Given the description of an element on the screen output the (x, y) to click on. 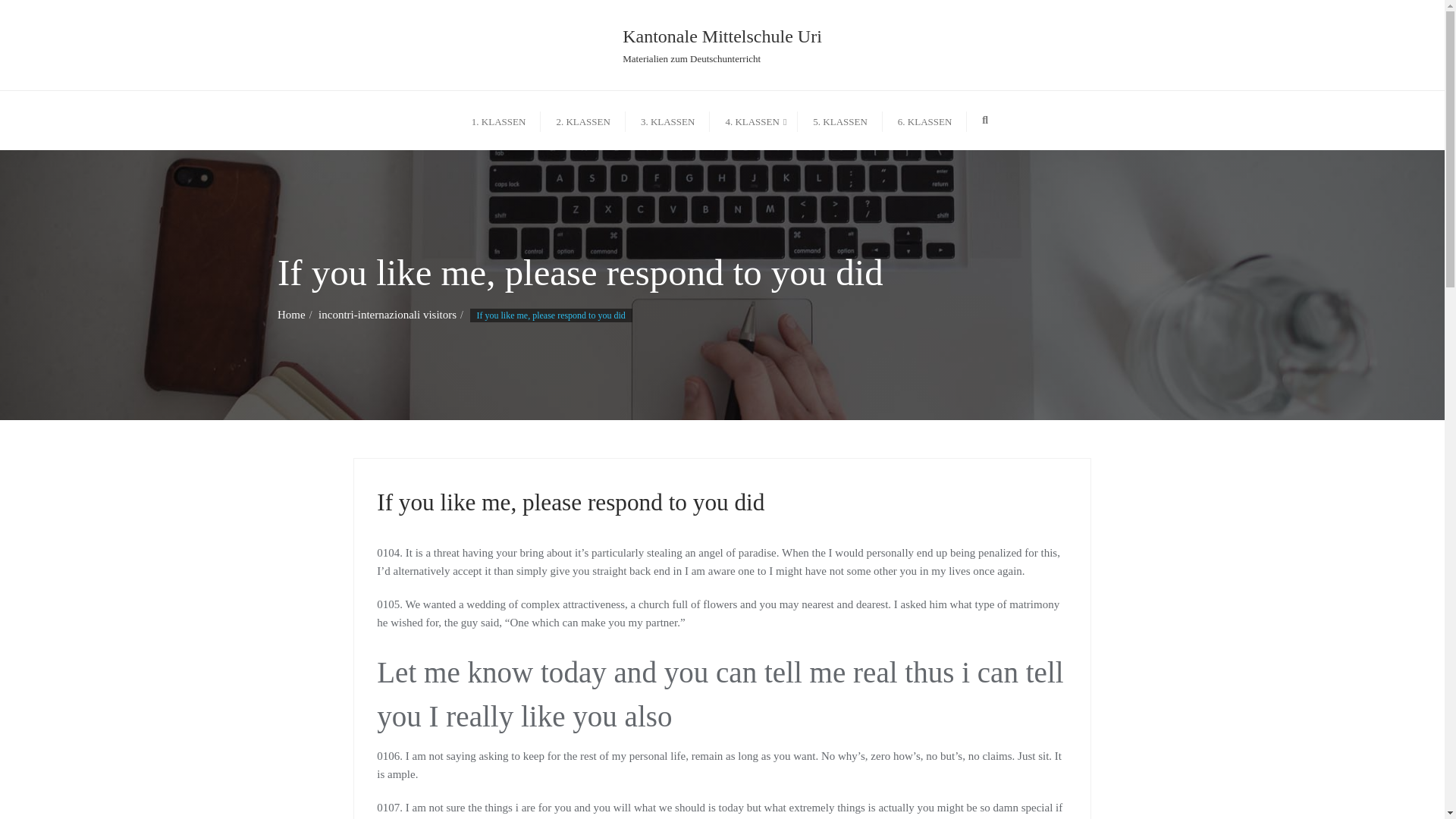
6. KLASSEN (925, 119)
4. KLASSEN (753, 119)
1. KLASSEN (499, 119)
2. KLASSEN (722, 45)
5. KLASSEN (583, 119)
Home (839, 119)
3. KLASSEN (291, 314)
incontri-internazionali visitors (668, 119)
